Given the description of an element on the screen output the (x, y) to click on. 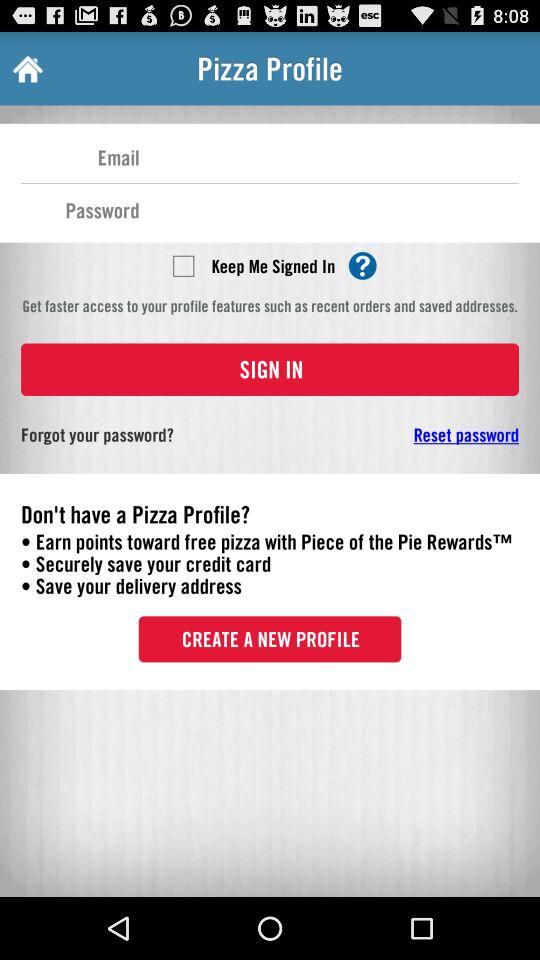
tap the app above the email (26, 68)
